Given the description of an element on the screen output the (x, y) to click on. 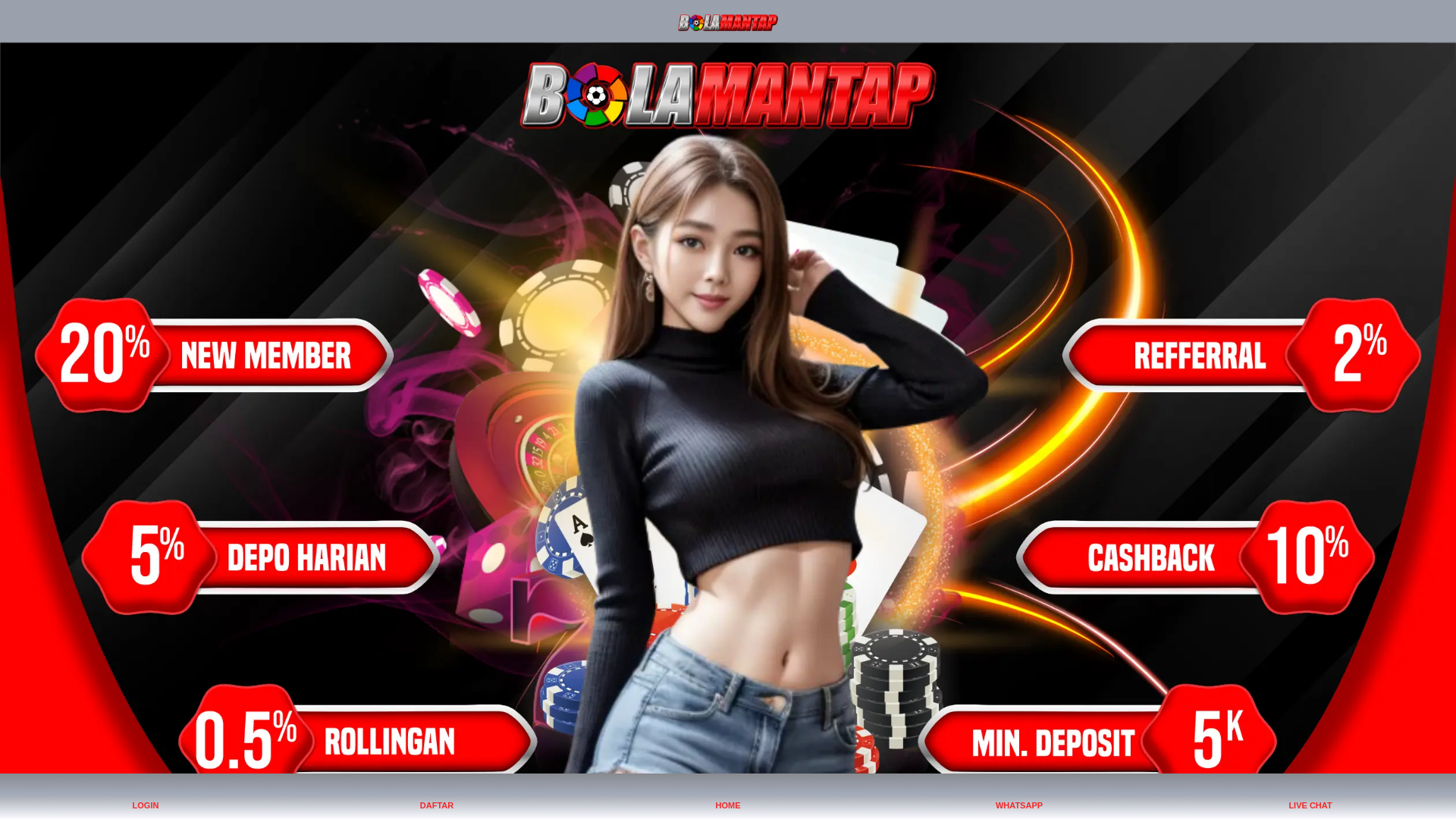
WHATSAPP (1018, 796)
LOGIN (145, 796)
HOME (727, 796)
DAFTAR (436, 796)
